Given the description of an element on the screen output the (x, y) to click on. 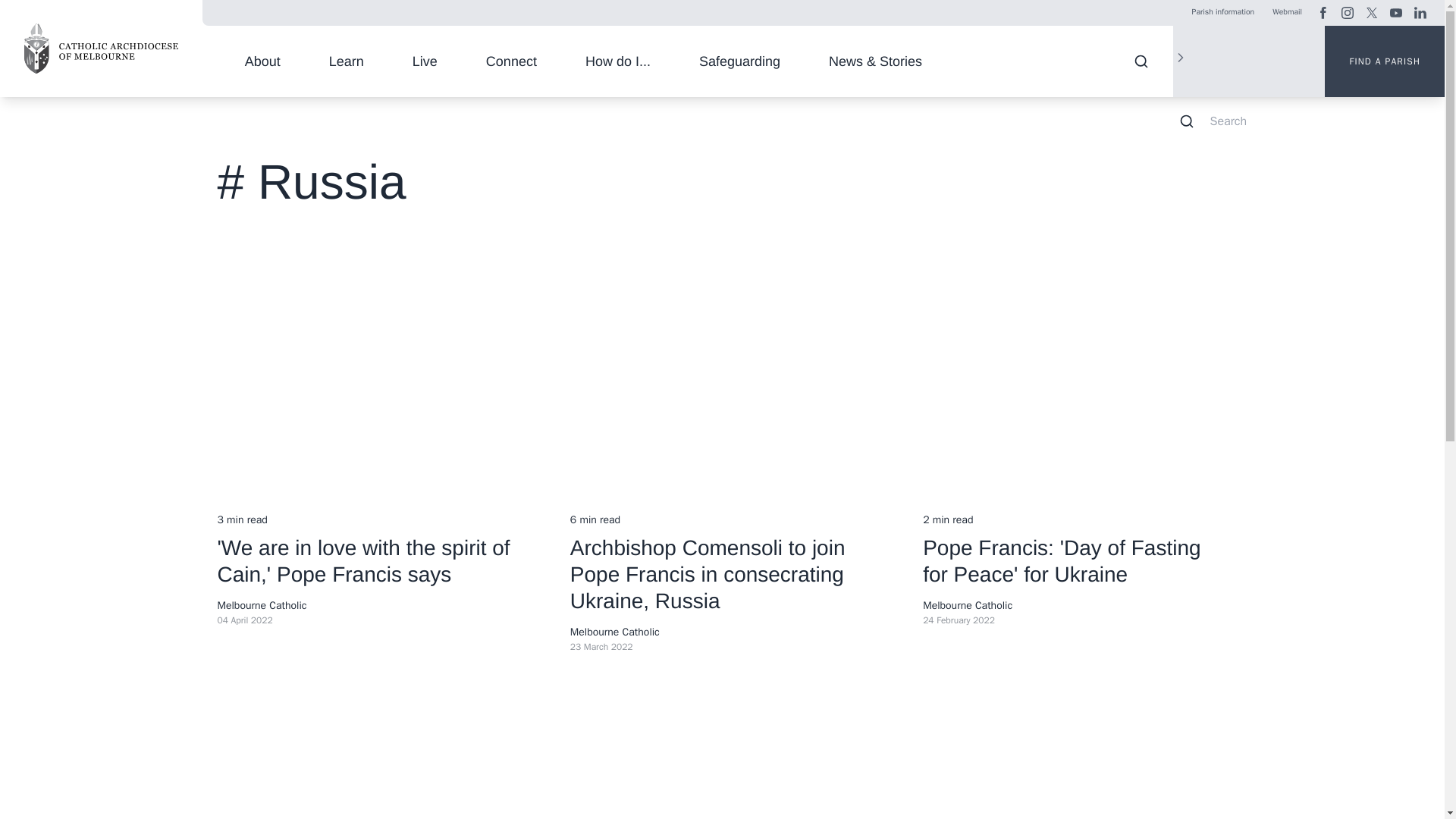
Webmail (1287, 12)
Live (424, 61)
Parish information (1222, 12)
About (262, 61)
Learn (346, 61)
